Given the description of an element on the screen output the (x, y) to click on. 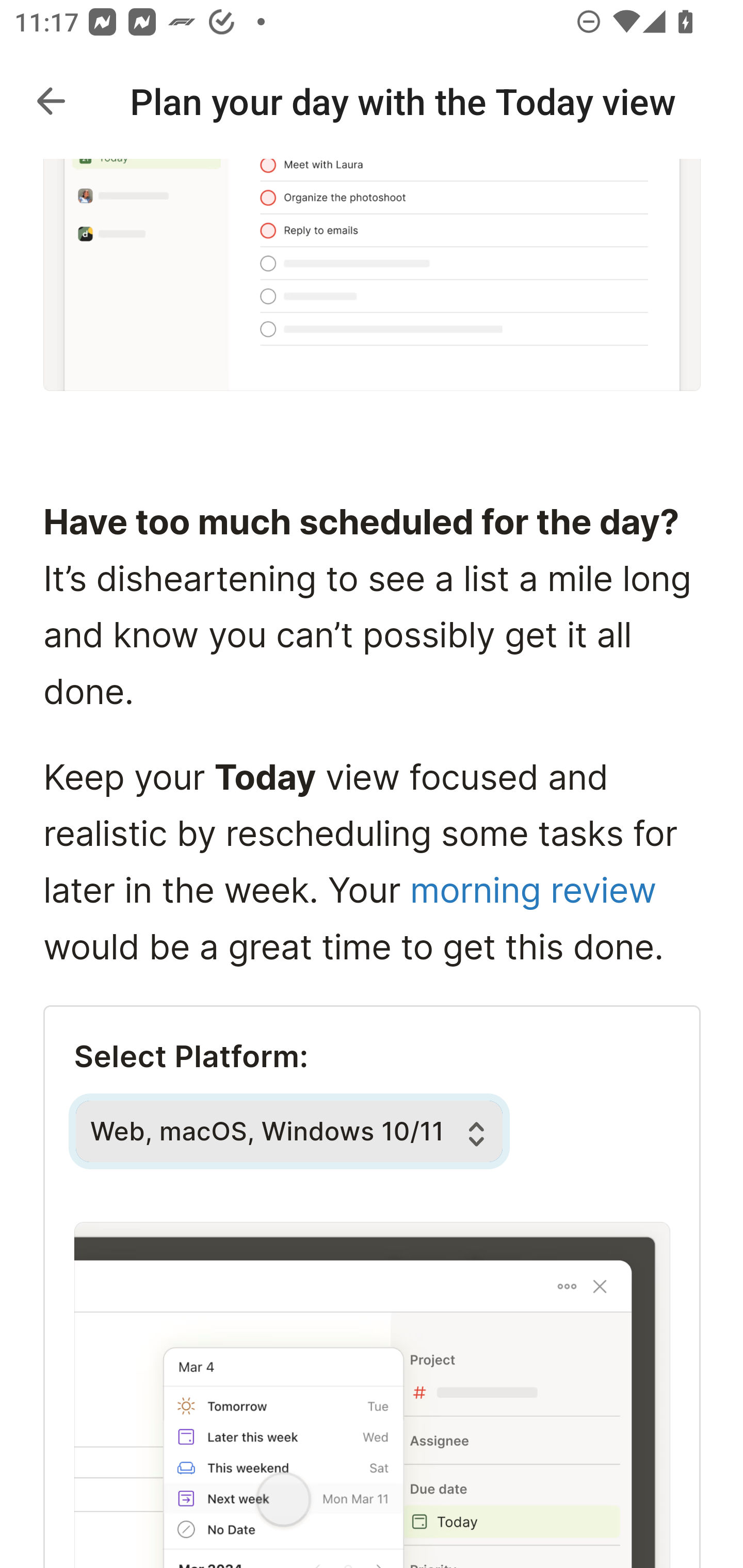
Navigate up (50, 101)
priorities-web.png (372, 275)
morning review (532, 892)
Web, macOS, Windows 10/11 (289, 1131)
clearup-day-web.png (371, 1393)
